Given the description of an element on the screen output the (x, y) to click on. 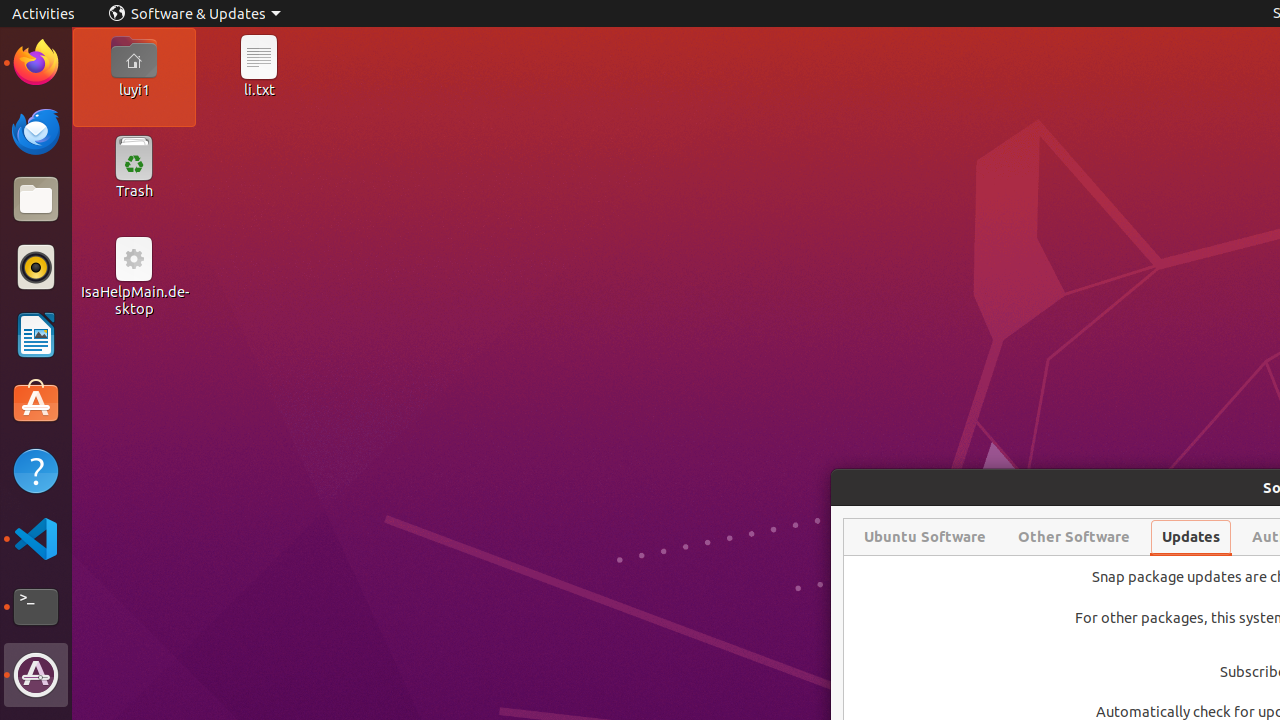
Software & Updates Element type: push-button (36, 675)
Software & Updates Element type: menu (195, 13)
li.txt Element type: label (259, 89)
Activities Element type: label (43, 13)
